Given the description of an element on the screen output the (x, y) to click on. 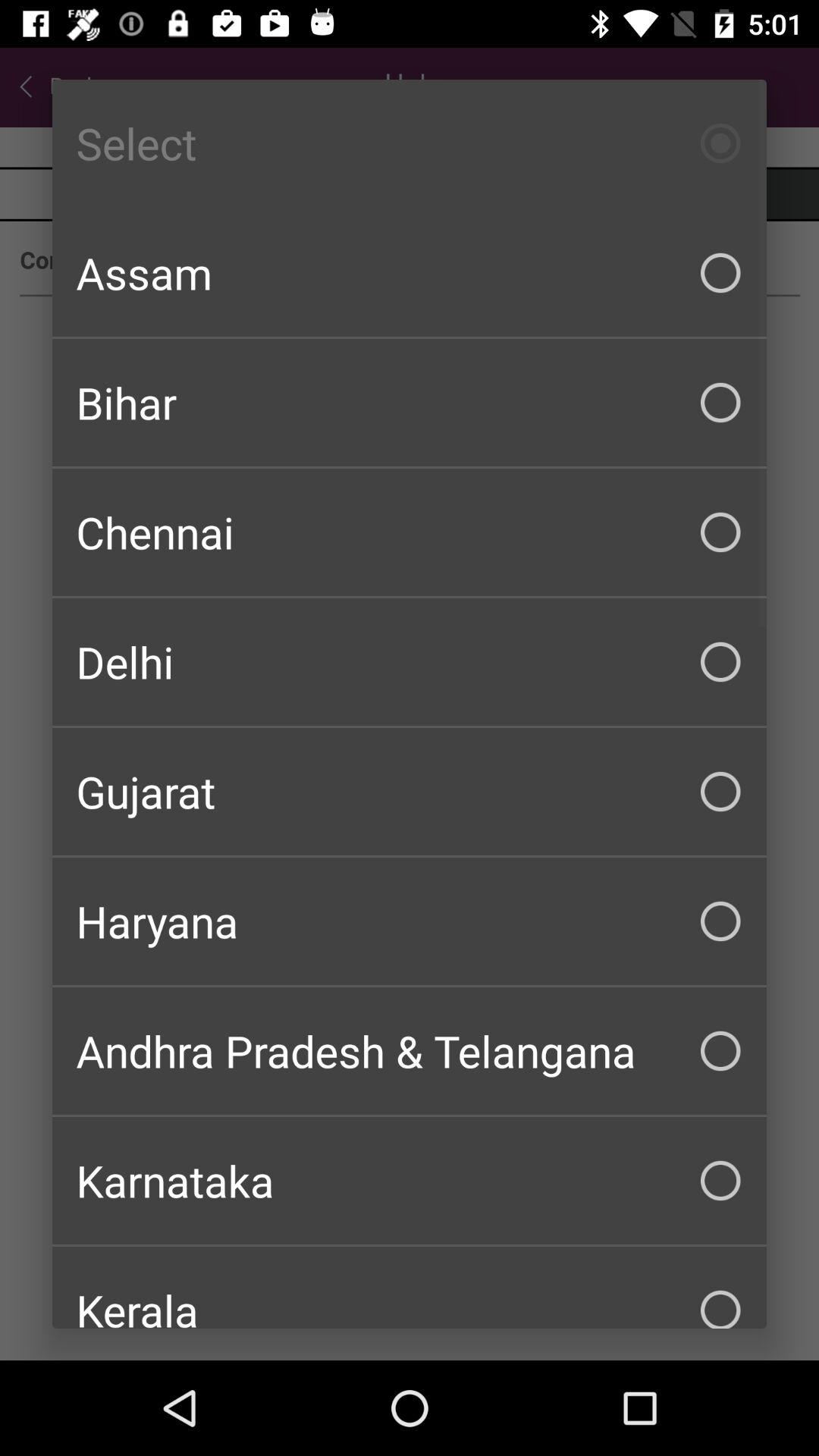
select the checkbox below haryana icon (409, 1050)
